Given the description of an element on the screen output the (x, y) to click on. 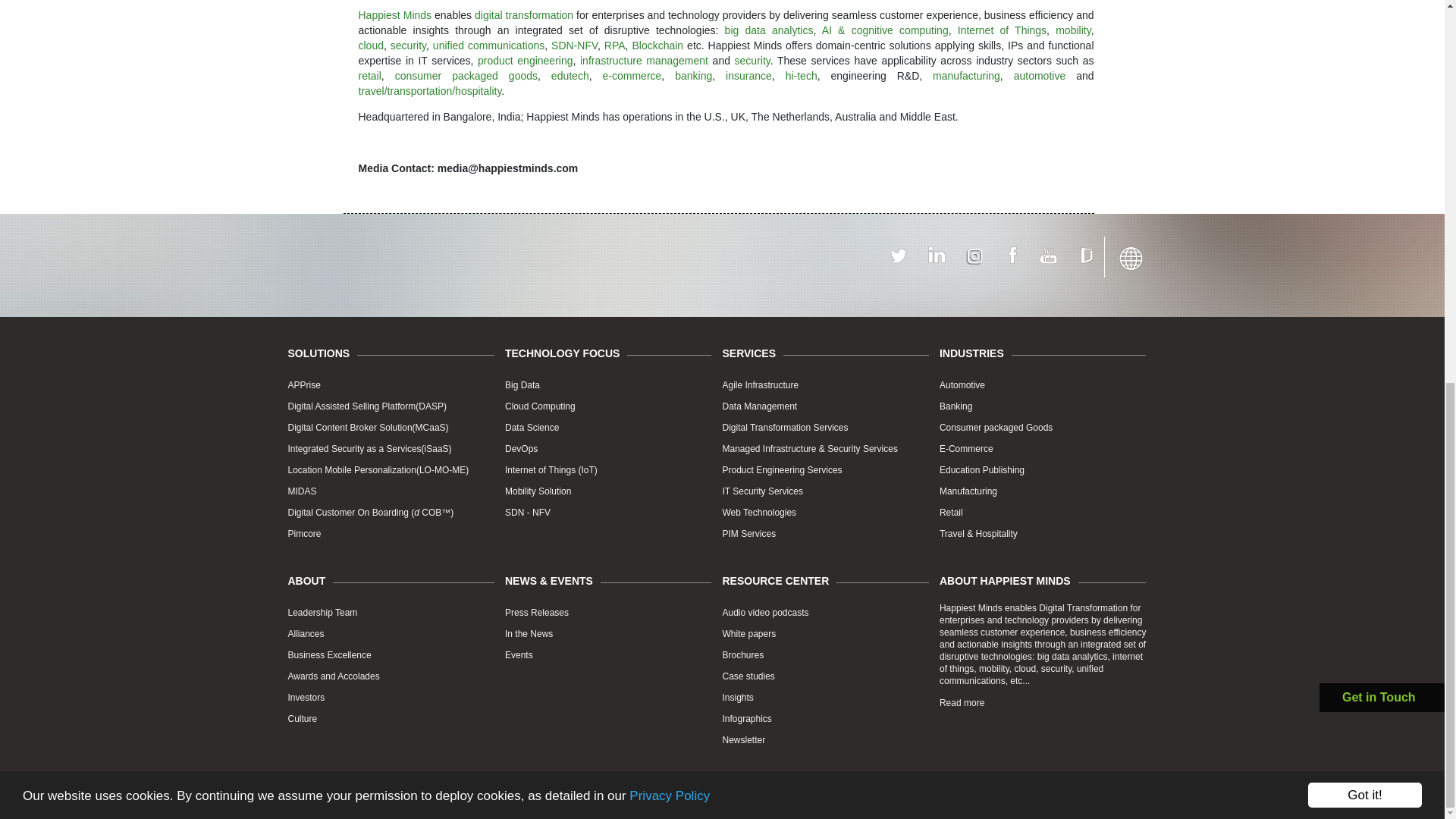
Privacy Policy (669, 142)
Got it! (1364, 147)
APPrise (304, 385)
